Given the description of an element on the screen output the (x, y) to click on. 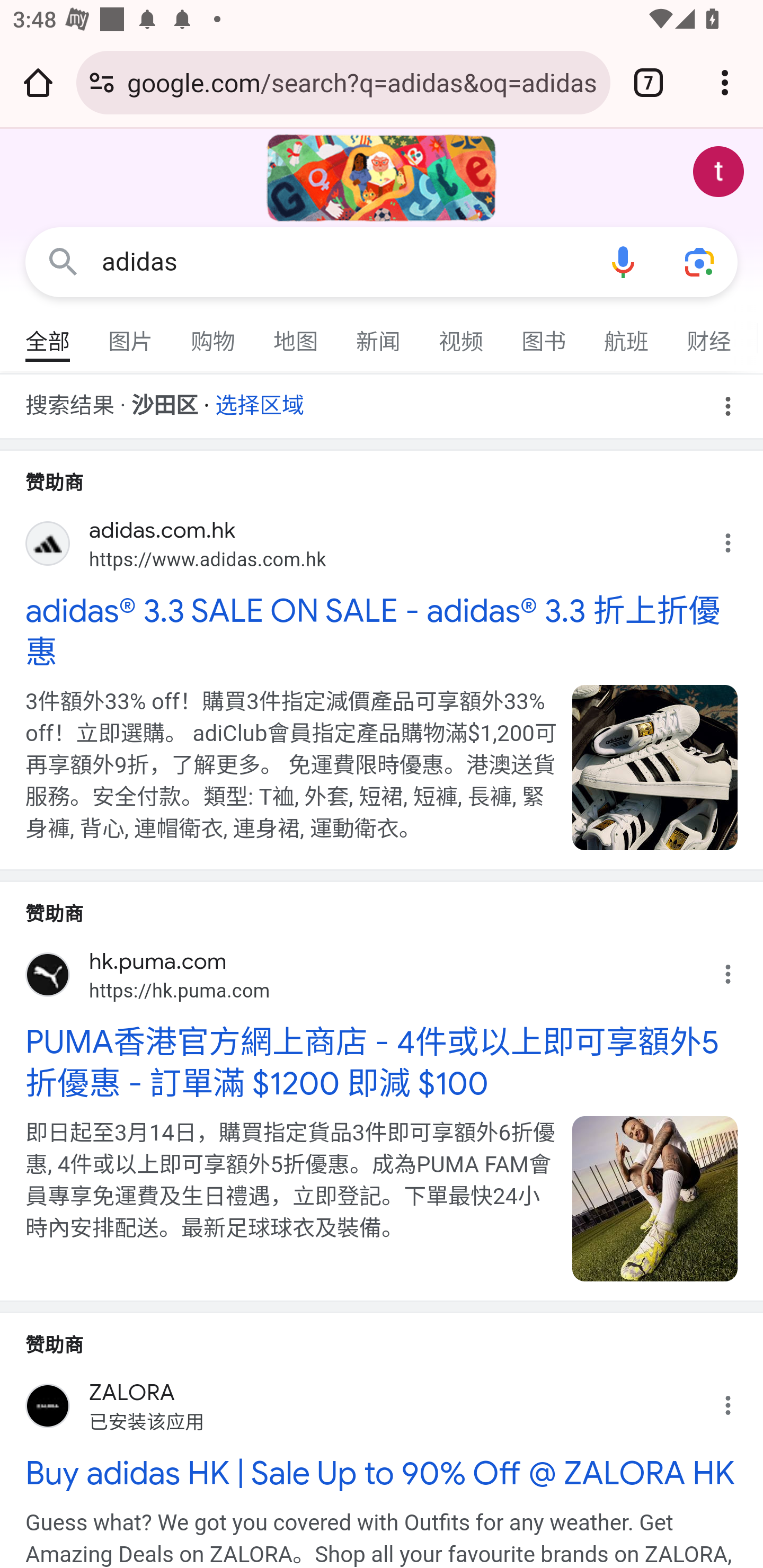
Open the home page (38, 82)
Connection is secure (101, 82)
Switch or close tabs (648, 82)
Customize and control Google Chrome (724, 82)
